Given the description of an element on the screen output the (x, y) to click on. 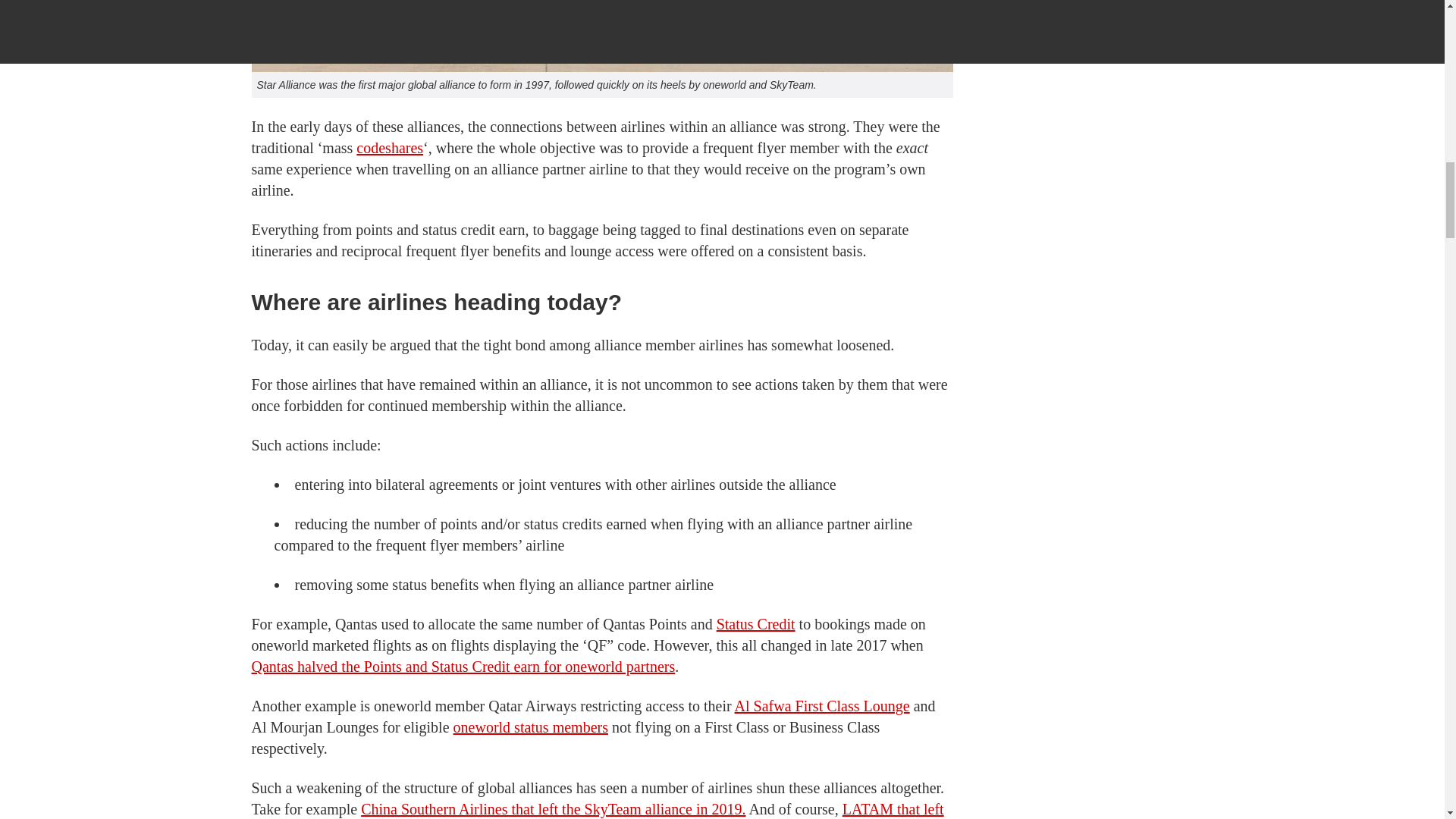
Status Credit (755, 623)
Al Safwa First Class Lounge (822, 705)
LATAM that left oneworld (597, 809)
oneworld status members (530, 727)
codeshares (389, 147)
